Given the description of an element on the screen output the (x, y) to click on. 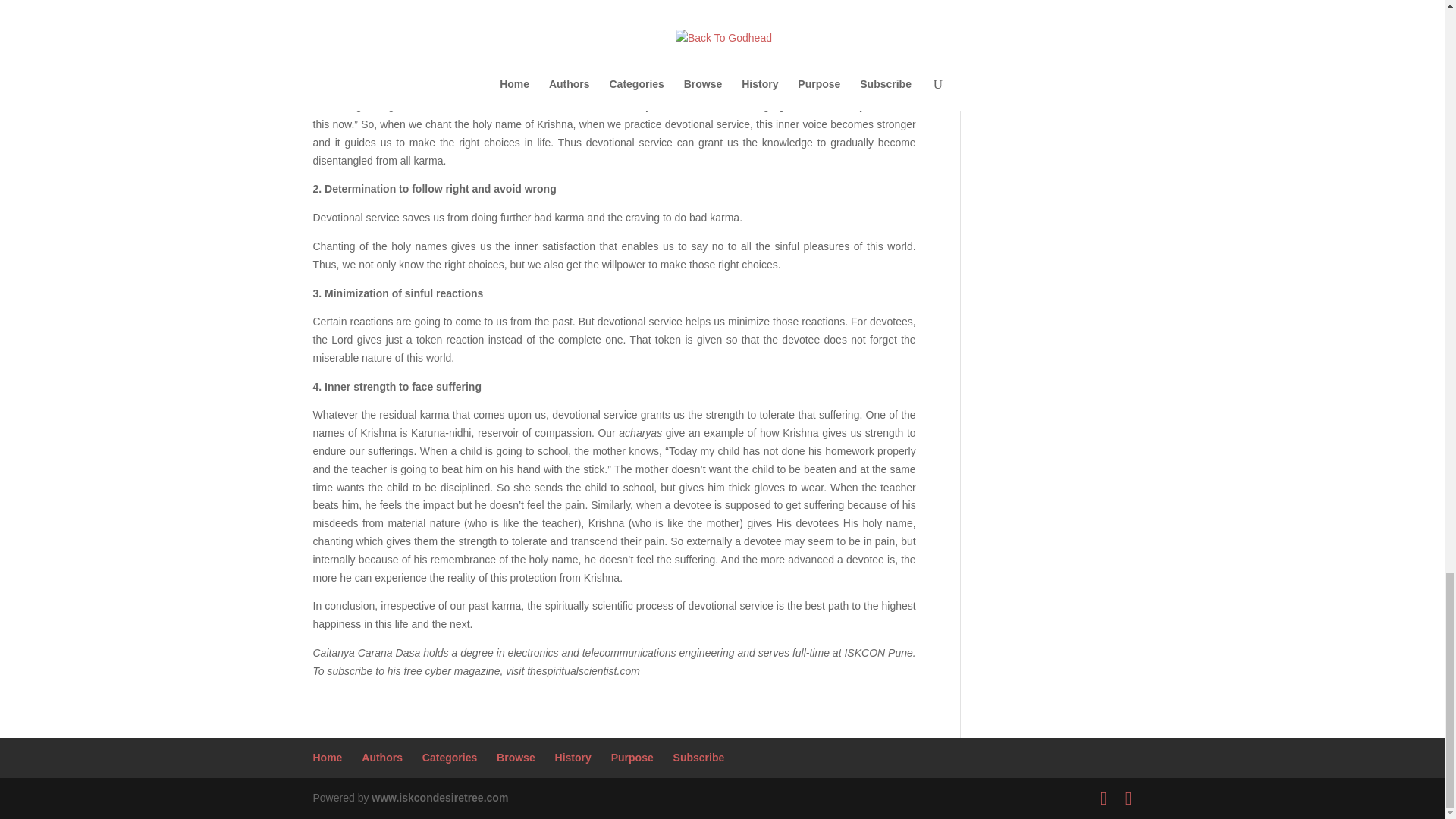
Subscribe (698, 757)
Home (327, 757)
Browse (515, 757)
Authors (382, 757)
Categories (449, 757)
Categories (449, 757)
Purpose (632, 757)
Browse (515, 757)
Home (327, 757)
www.iskcondesiretree.com (439, 797)
